Given the description of an element on the screen output the (x, y) to click on. 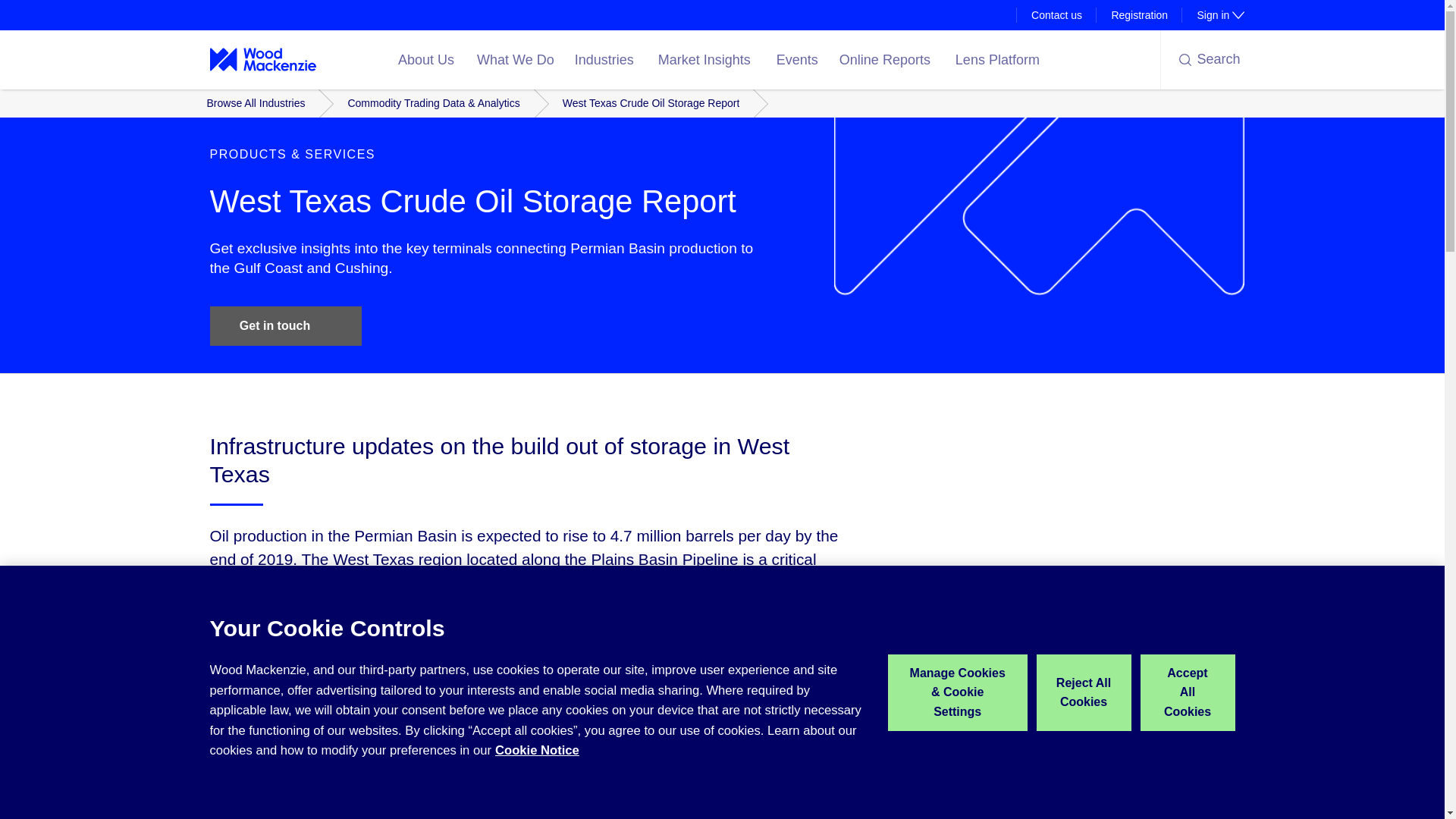
About Us (427, 59)
Registration (1139, 15)
Contact us (1212, 15)
